Given the description of an element on the screen output the (x, y) to click on. 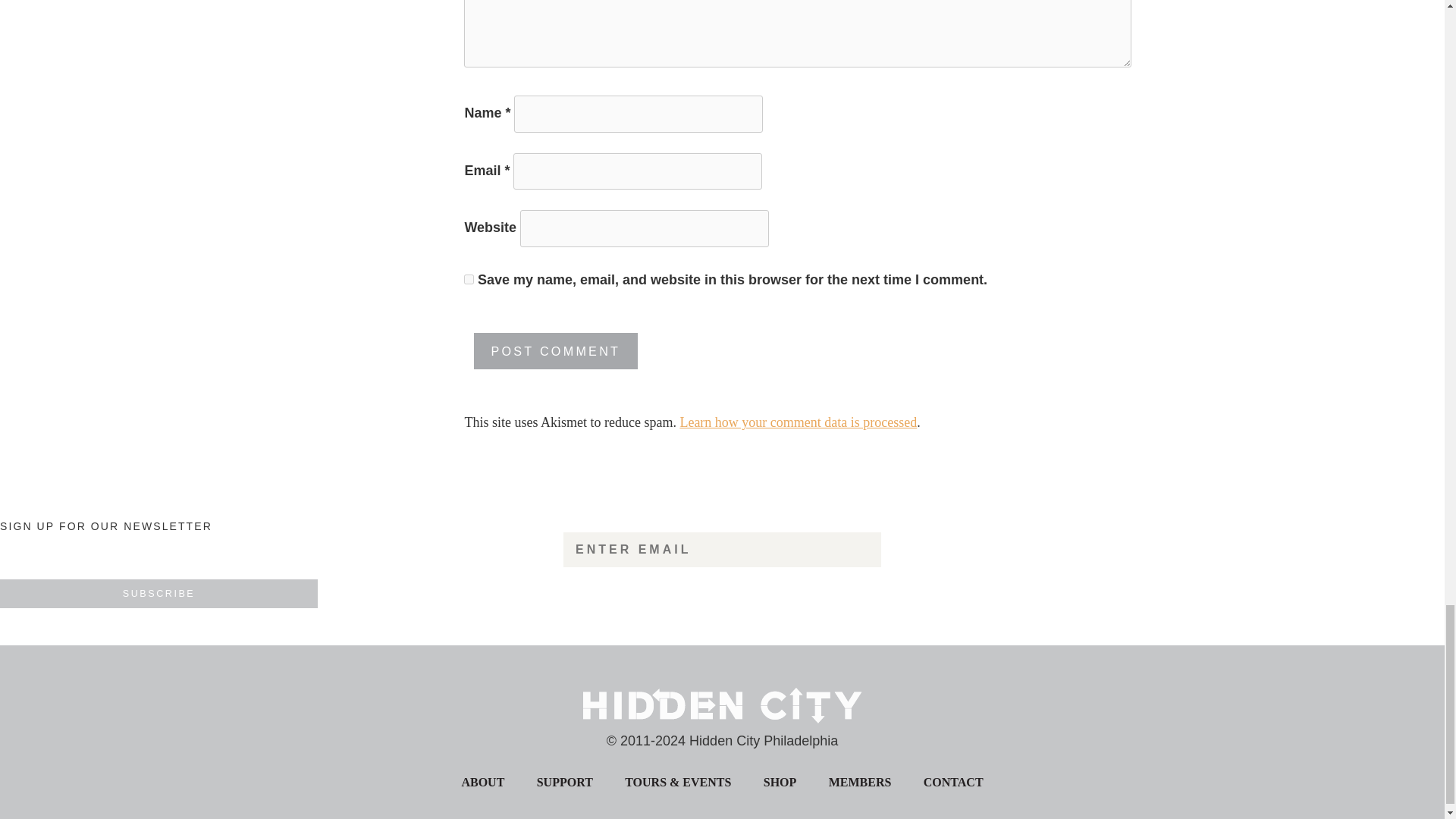
yes (469, 279)
Post Comment (556, 351)
Subscribe (158, 593)
